Given the description of an element on the screen output the (x, y) to click on. 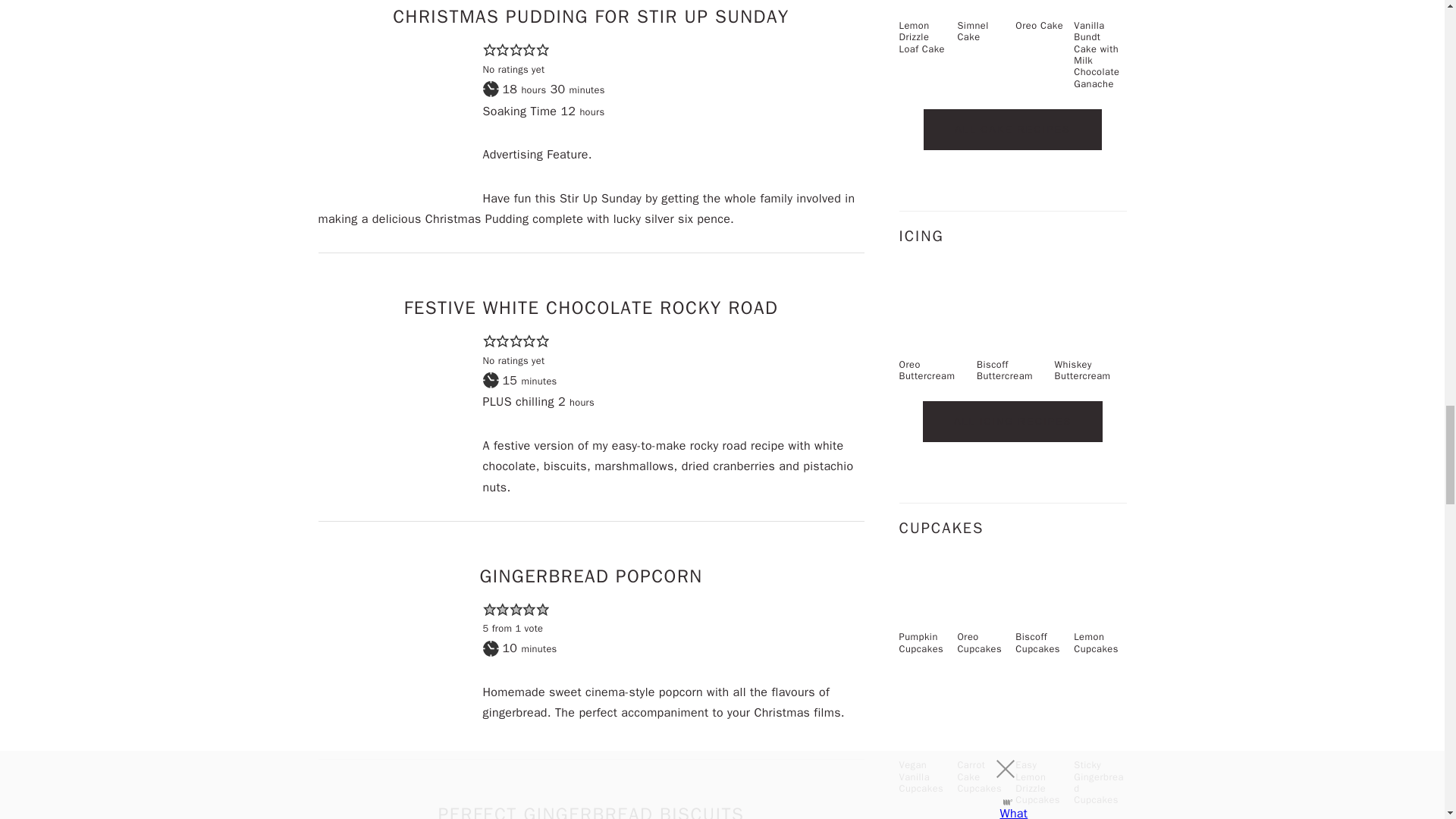
Lemon Cupcakes (1099, 594)
Whiskey Buttercream (1090, 322)
Oreo Cupcakes (982, 594)
Biscoff Cupcakes (1040, 594)
Pumpkin Cupcakes (925, 594)
Oreo Buttercream (935, 322)
Icing (1012, 421)
Biscoff Buttercream (1012, 322)
Cakes (1011, 128)
